Given the description of an element on the screen output the (x, y) to click on. 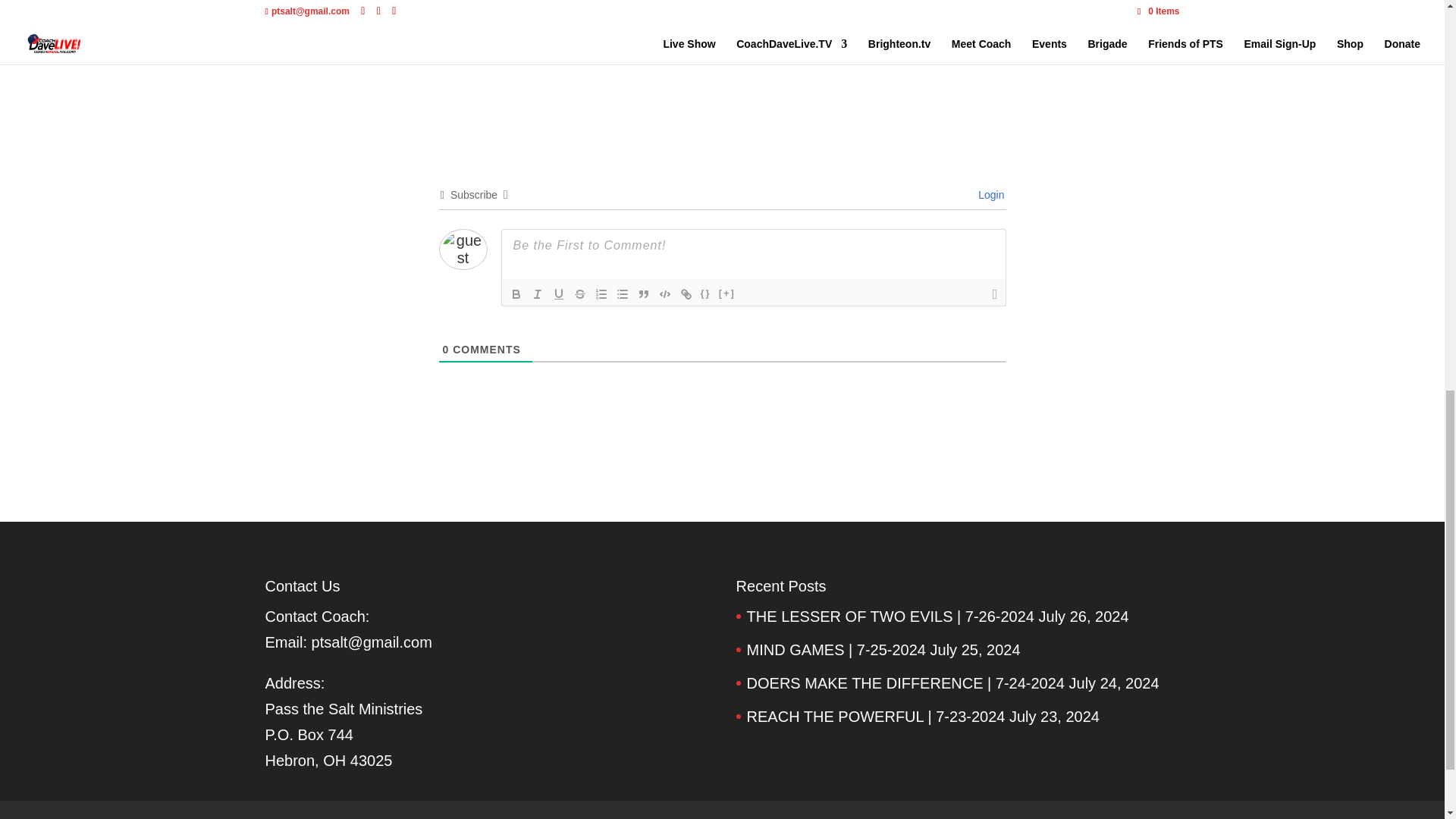
Ordered List (600, 294)
Spoiler (726, 294)
Link (685, 294)
Code Block (664, 294)
Italic (536, 294)
Unordered List (621, 294)
Strike (579, 294)
Blockquote (642, 294)
Source Code (704, 294)
Bold (515, 294)
Underline (558, 294)
